Given the description of an element on the screen output the (x, y) to click on. 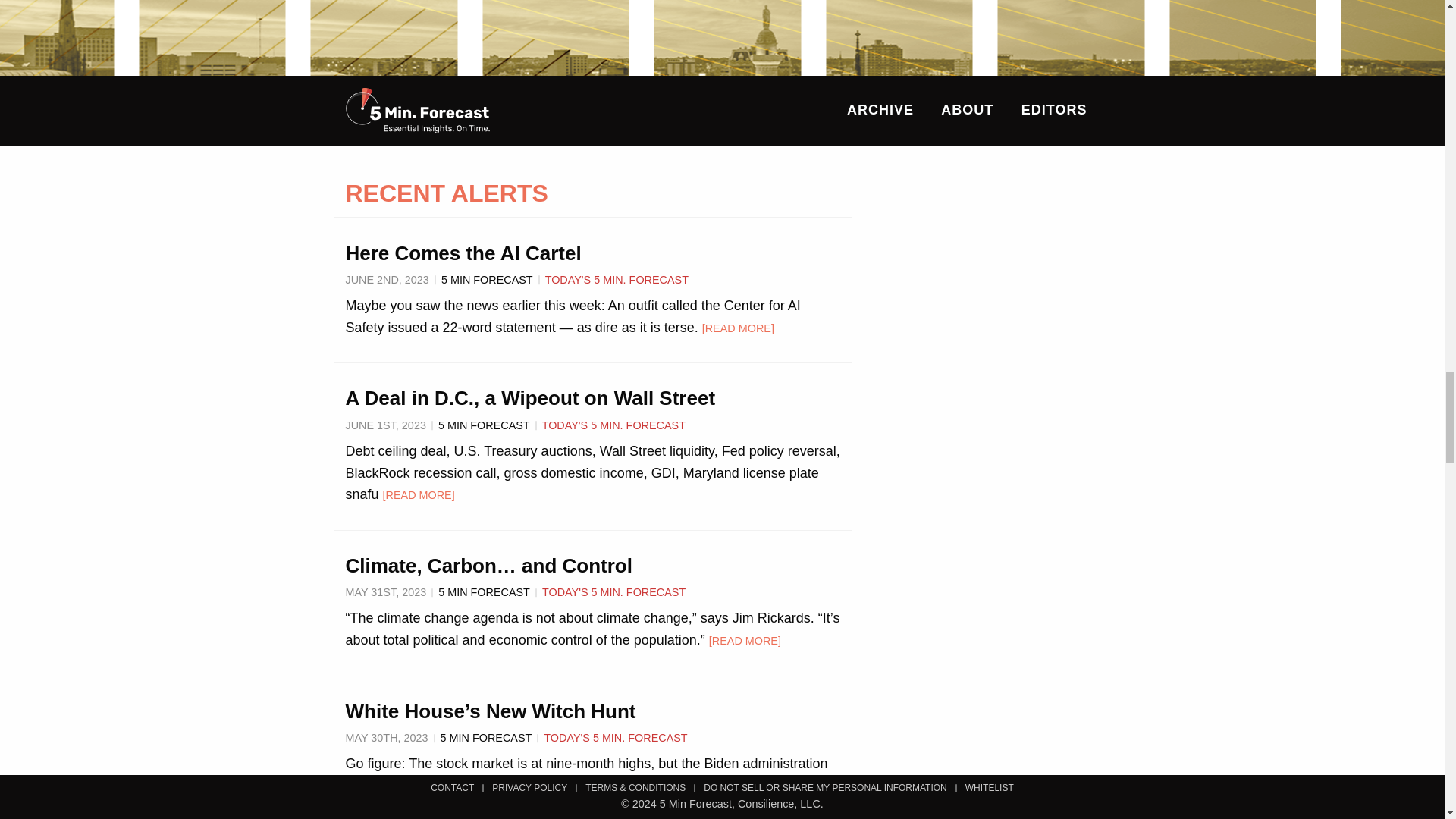
A Deal in D.C., a Wipeout on Wall Street (531, 397)
READ MORE (638, 786)
Get the details here. (745, 56)
TODAY'S 5 MIN. FORECAST (615, 737)
READ MORE (737, 328)
Permanent Link to A Deal in D.C., a Wipeout on Wall Street (531, 397)
READ MORE (418, 494)
READ MORE (744, 640)
Permanent Link to Here Comes the AI Cartel (463, 252)
Here Comes the AI Cartel (463, 252)
